Given the description of an element on the screen output the (x, y) to click on. 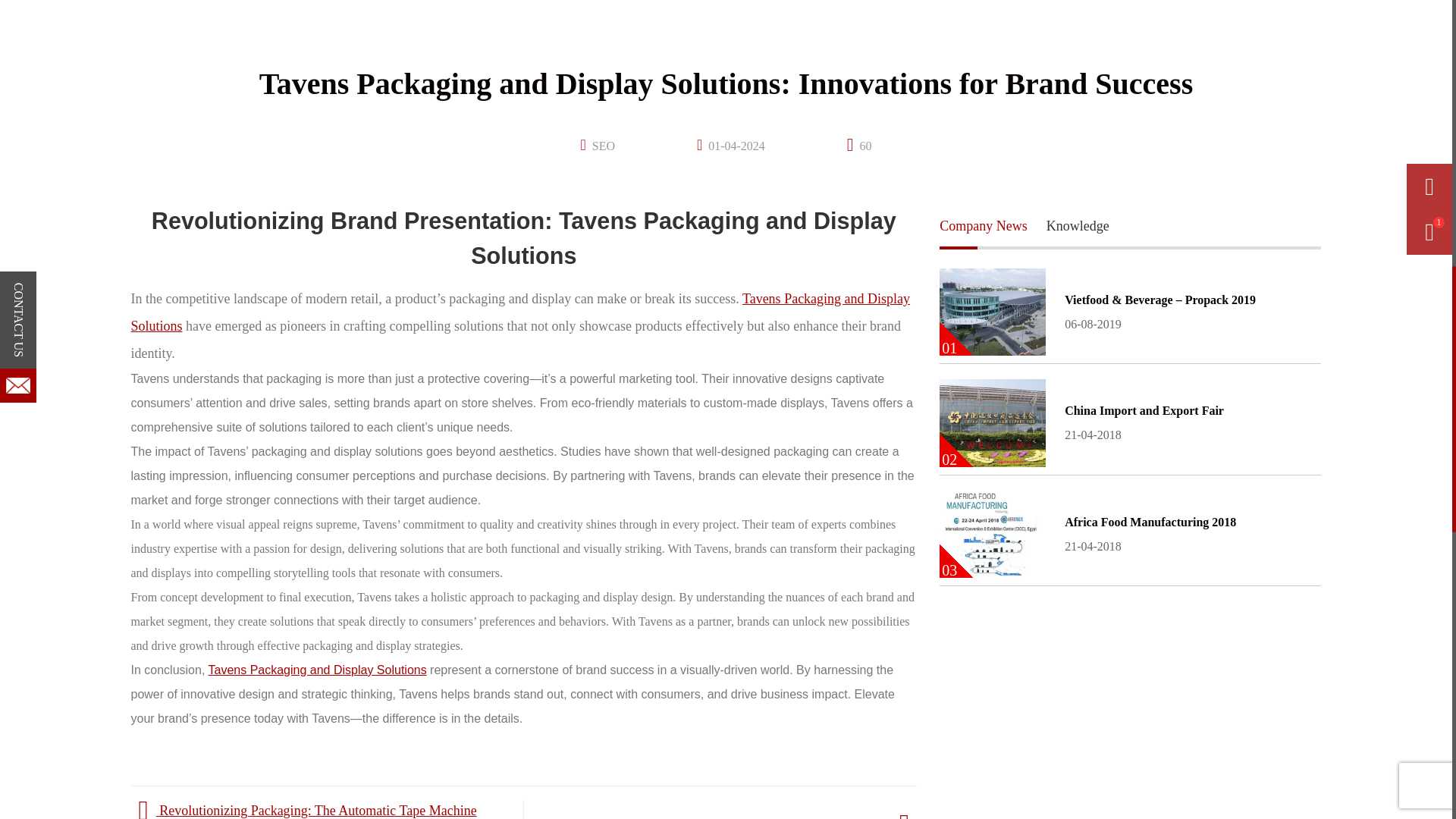
Knowledge (1077, 226)
Tavens Packaging and Display Solutions (520, 312)
Tavens Packaging and Display Solutions (317, 669)
Lawn Care Equipment Bundle Deals Near You (1129, 422)
